Given the description of an element on the screen output the (x, y) to click on. 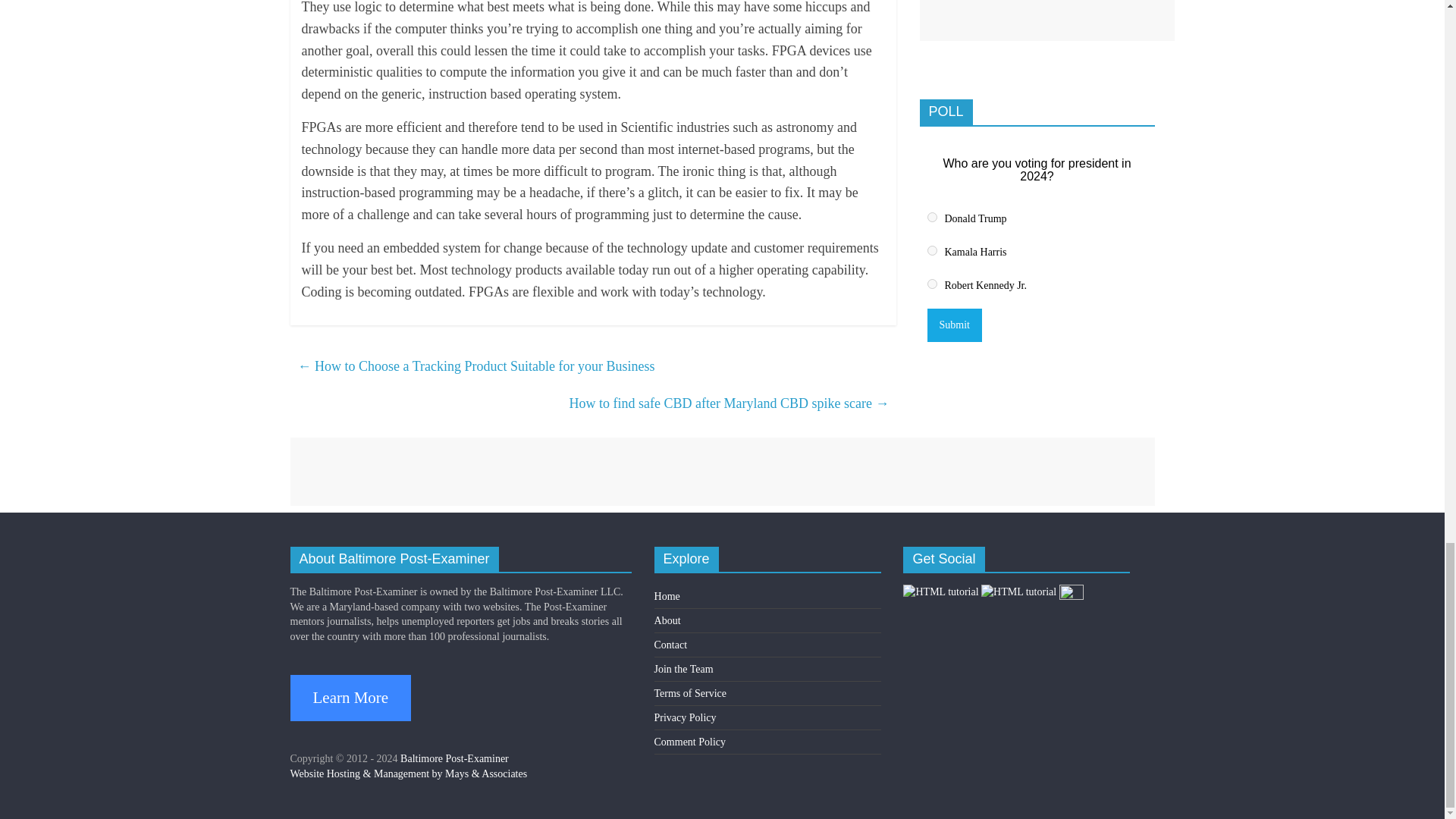
2 (931, 250)
1 (931, 216)
Baltimore Post-Examiner (454, 758)
3 (931, 284)
